Given the description of an element on the screen output the (x, y) to click on. 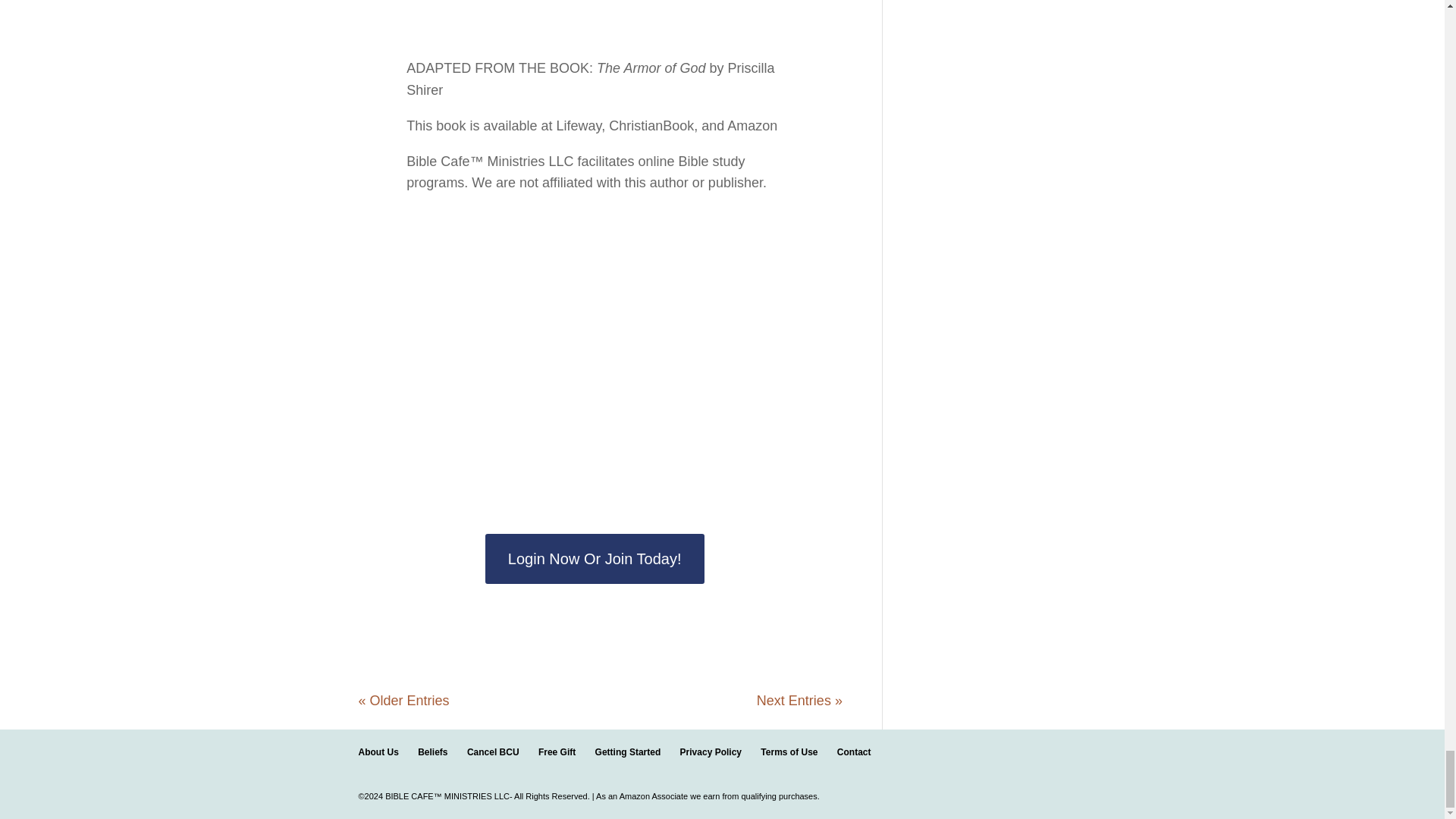
Login Now Or Join Today! (594, 558)
